Given the description of an element on the screen output the (x, y) to click on. 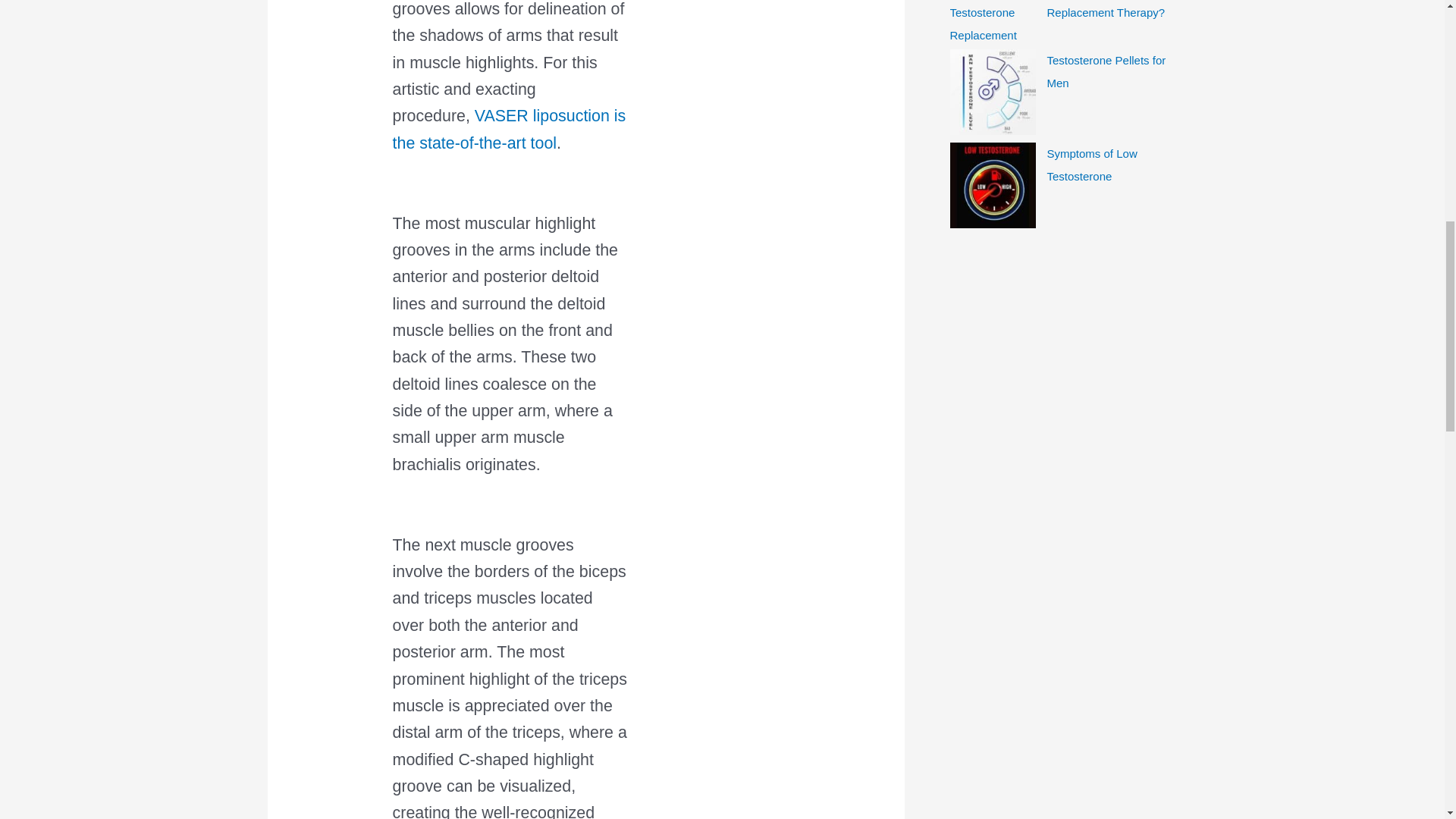
 VASER liposuction is the state-of-the-art tool (509, 129)
